Given the description of an element on the screen output the (x, y) to click on. 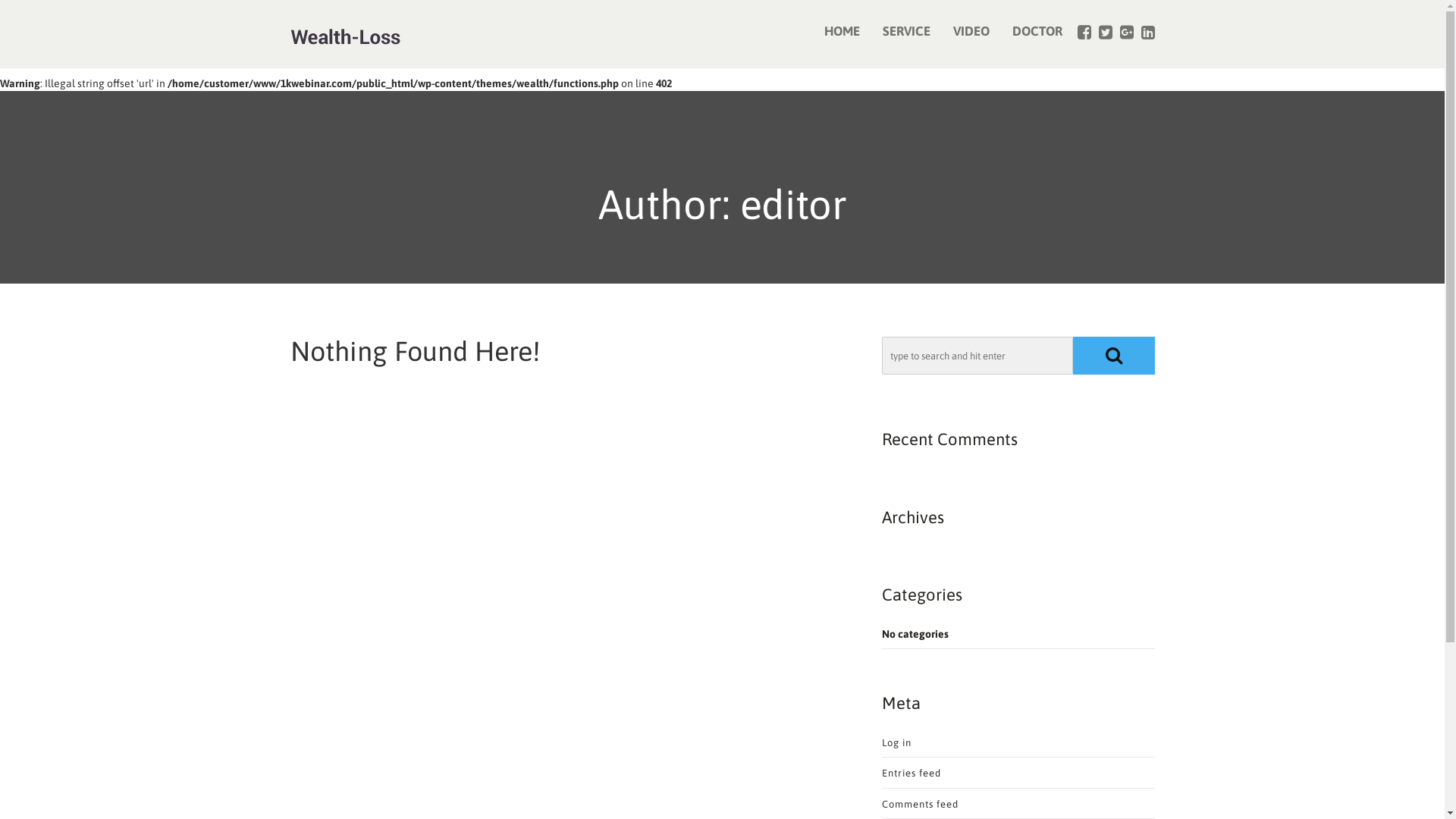
SERVICE Element type: text (905, 31)
DOCTOR Element type: text (1037, 31)
Entries feed Element type: text (910, 772)
Comments feed Element type: text (919, 803)
VIDEO Element type: text (971, 31)
Log in Element type: text (895, 742)
HOME Element type: text (841, 31)
